Given the description of an element on the screen output the (x, y) to click on. 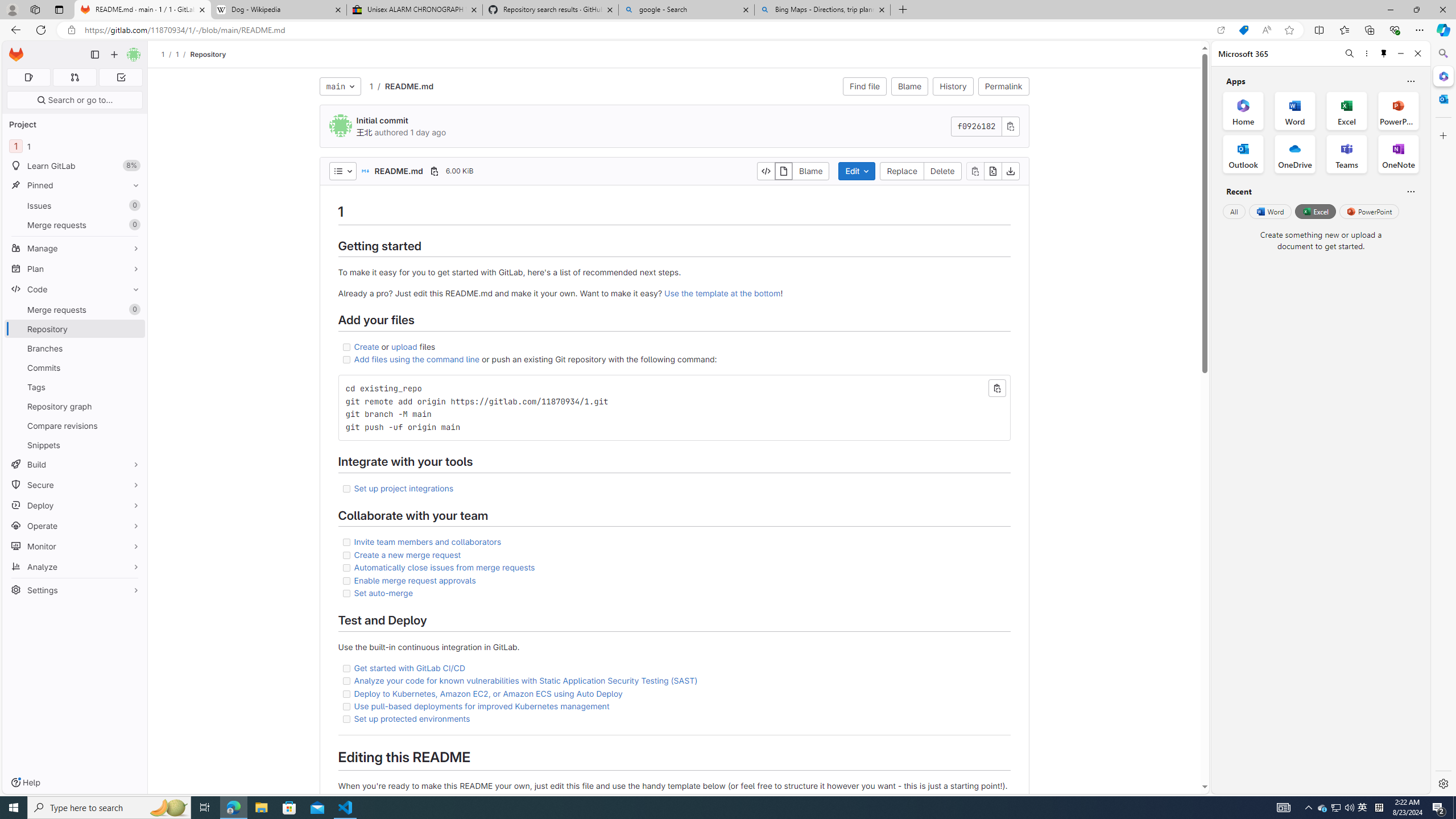
Compare revisions (74, 425)
Pin Compare revisions (132, 425)
Set up project integrations (403, 488)
Create (366, 346)
Use the template at the bottom (721, 293)
upload (404, 346)
Teams Office App (1346, 154)
Deploy (74, 505)
Excel (1315, 210)
Find file (864, 85)
Analyze (74, 566)
